Given the description of an element on the screen output the (x, y) to click on. 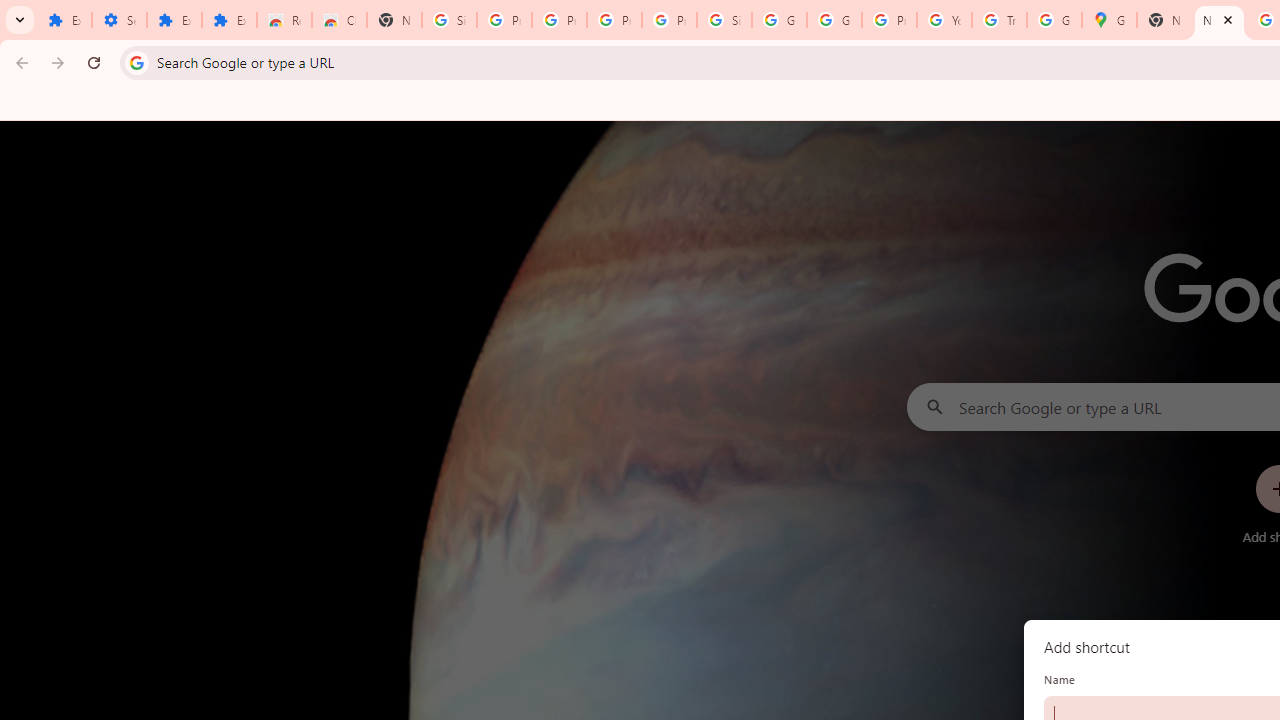
Extensions (64, 20)
Reviews: Helix Fruit Jump Arcade Game (284, 20)
Sign in - Google Accounts (724, 20)
New Tab (394, 20)
Extensions (174, 20)
Sign in - Google Accounts (449, 20)
